Given the description of an element on the screen output the (x, y) to click on. 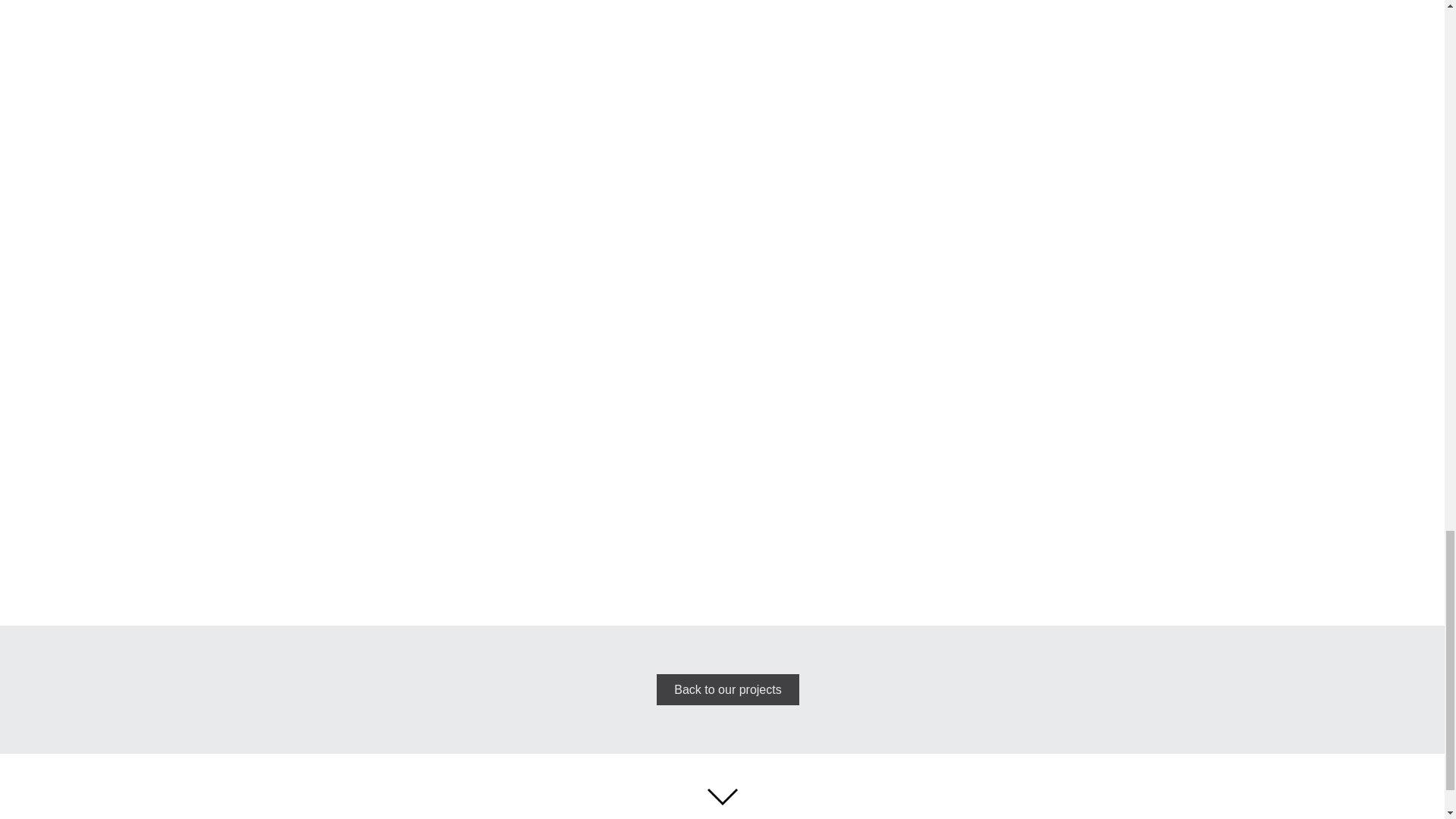
Back to our projects (727, 689)
